Given the description of an element on the screen output the (x, y) to click on. 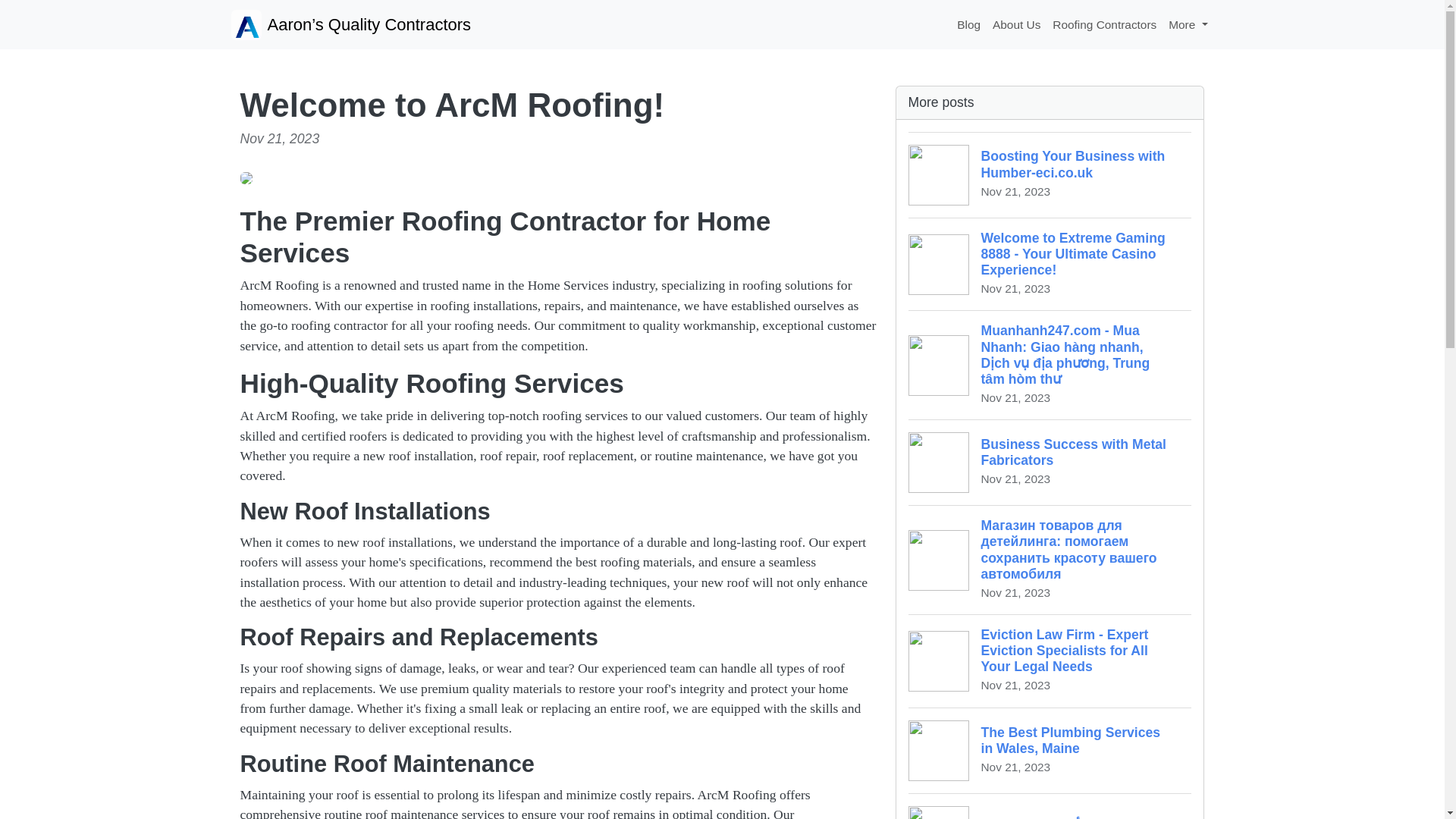
Blog (968, 24)
About Us (1016, 24)
Roofing Contractors (1103, 24)
More (1186, 24)
